Given the description of an element on the screen output the (x, y) to click on. 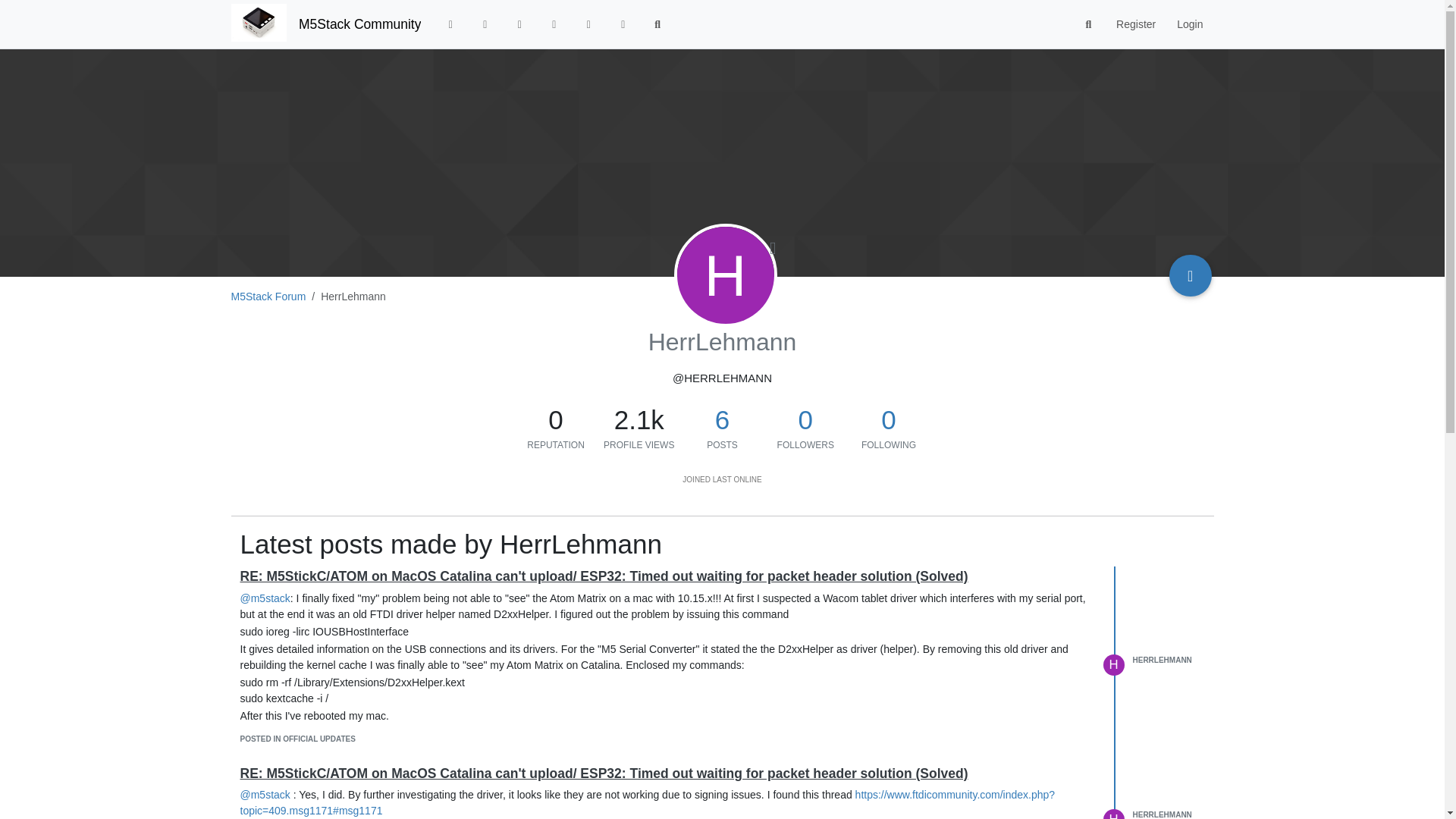
Popular (554, 24)
Groups (622, 24)
Tags (519, 24)
HERRLEHMANN (1162, 660)
M5Stack Forum (267, 296)
Categories (449, 24)
Search (657, 24)
M5Stack Community (359, 24)
Search (1088, 24)
Login (1189, 24)
